Given the description of an element on the screen output the (x, y) to click on. 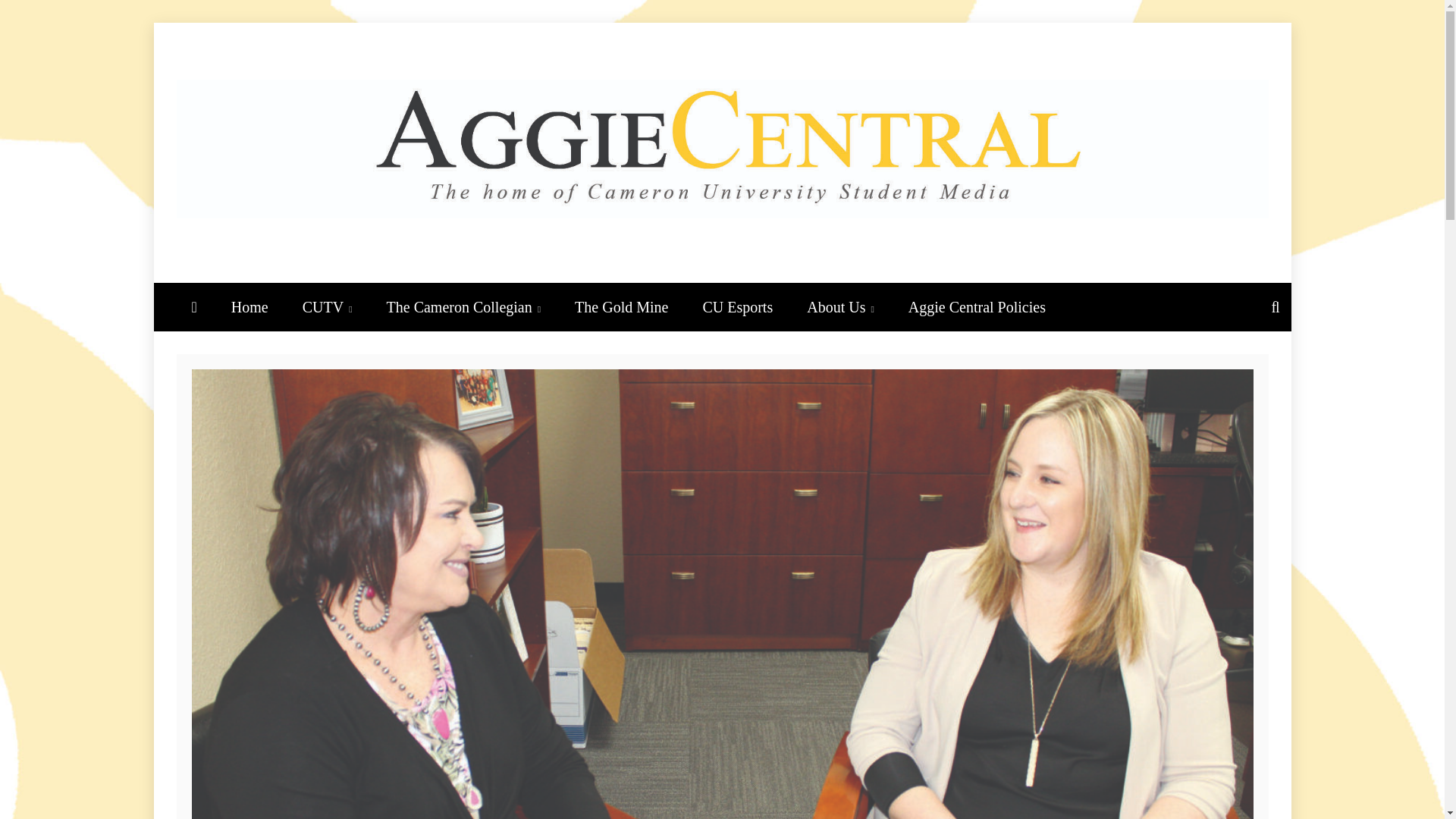
AGGIE CENTRAL (478, 269)
The Gold Mine (620, 306)
About Us (840, 306)
Home (249, 306)
CUTV (327, 306)
The Cameron Collegian (463, 306)
CU Esports (737, 306)
